Given the description of an element on the screen output the (x, y) to click on. 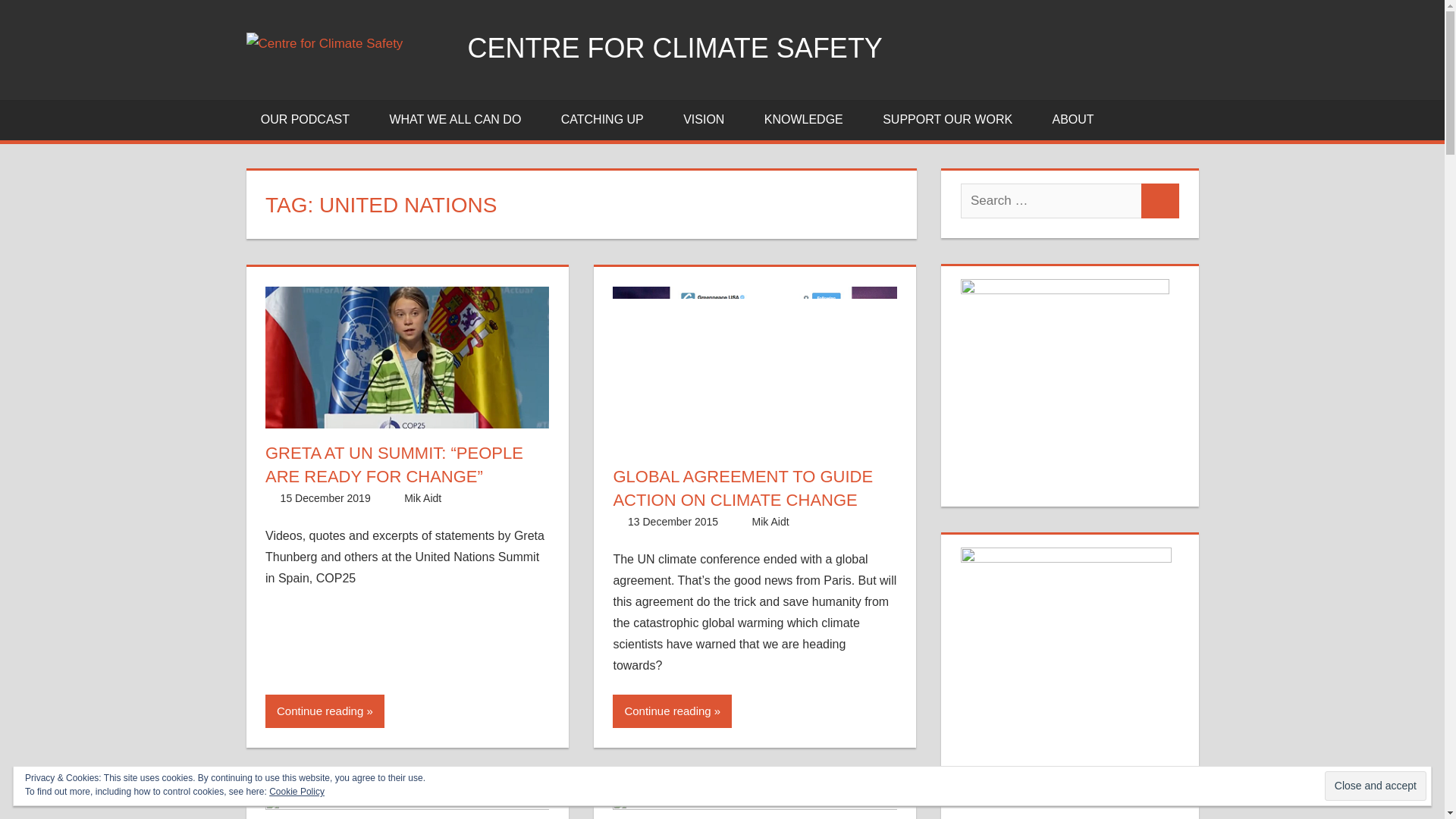
CENTRE FOR CLIMATE SAFETY (674, 47)
Search for: (1050, 200)
OUR PODCAST (310, 119)
09:58 (326, 498)
View all posts by Mik Aidt (770, 521)
CATCHING UP (607, 119)
KNOWLEDGE (808, 119)
23:32 (672, 521)
View all posts by Mik Aidt (422, 498)
VISION (708, 119)
